Given the description of an element on the screen output the (x, y) to click on. 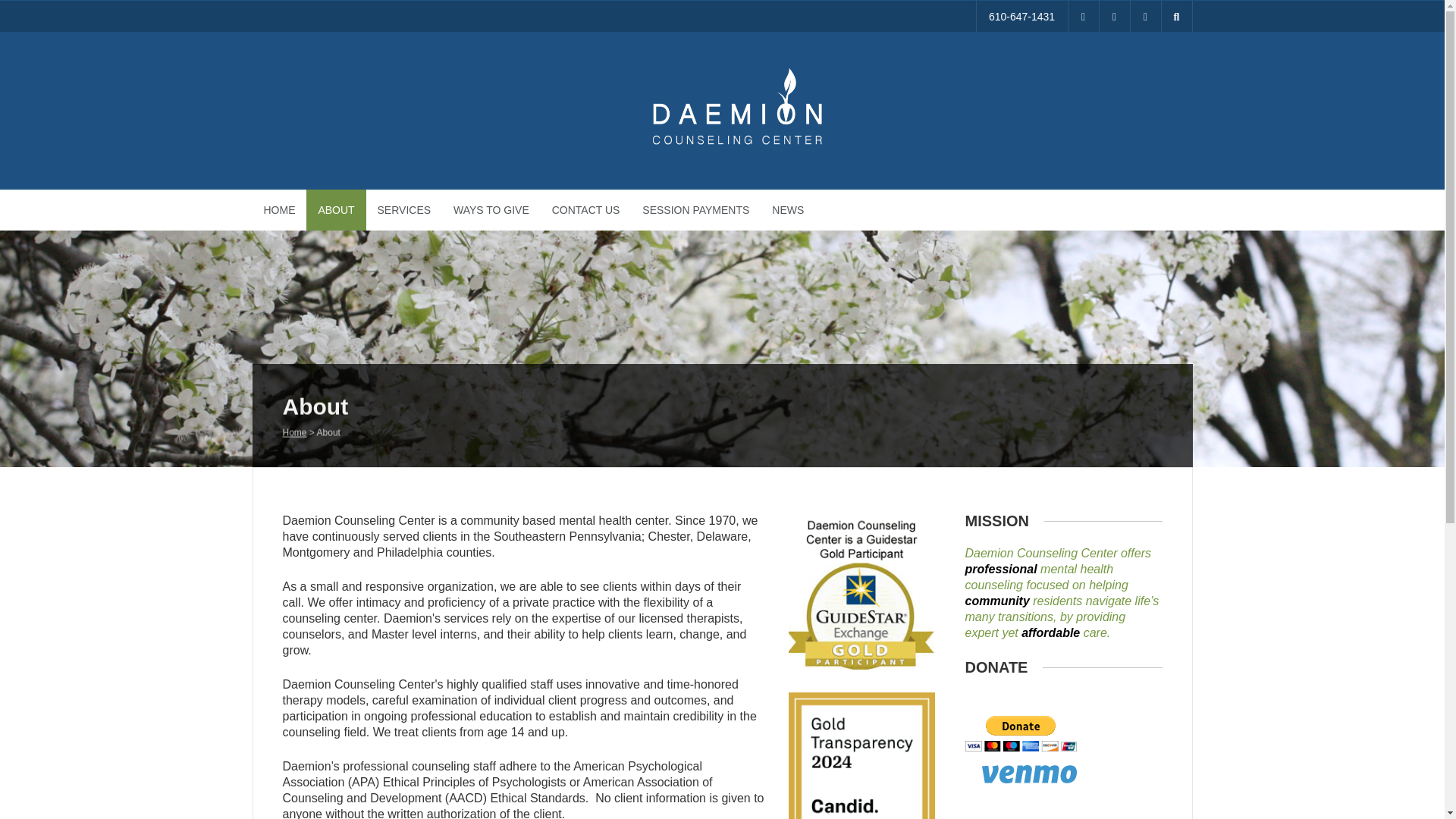
Search (22, 8)
SESSION PAYMENTS (695, 209)
Home (293, 443)
ABOUT (335, 209)
CONTACT US (585, 209)
WAYS TO GIVE (491, 209)
SERVICES (404, 209)
NEWS (787, 209)
HOME (278, 209)
Candid Guidestar Gold Transparency Seal (861, 755)
